Given the description of an element on the screen output the (x, y) to click on. 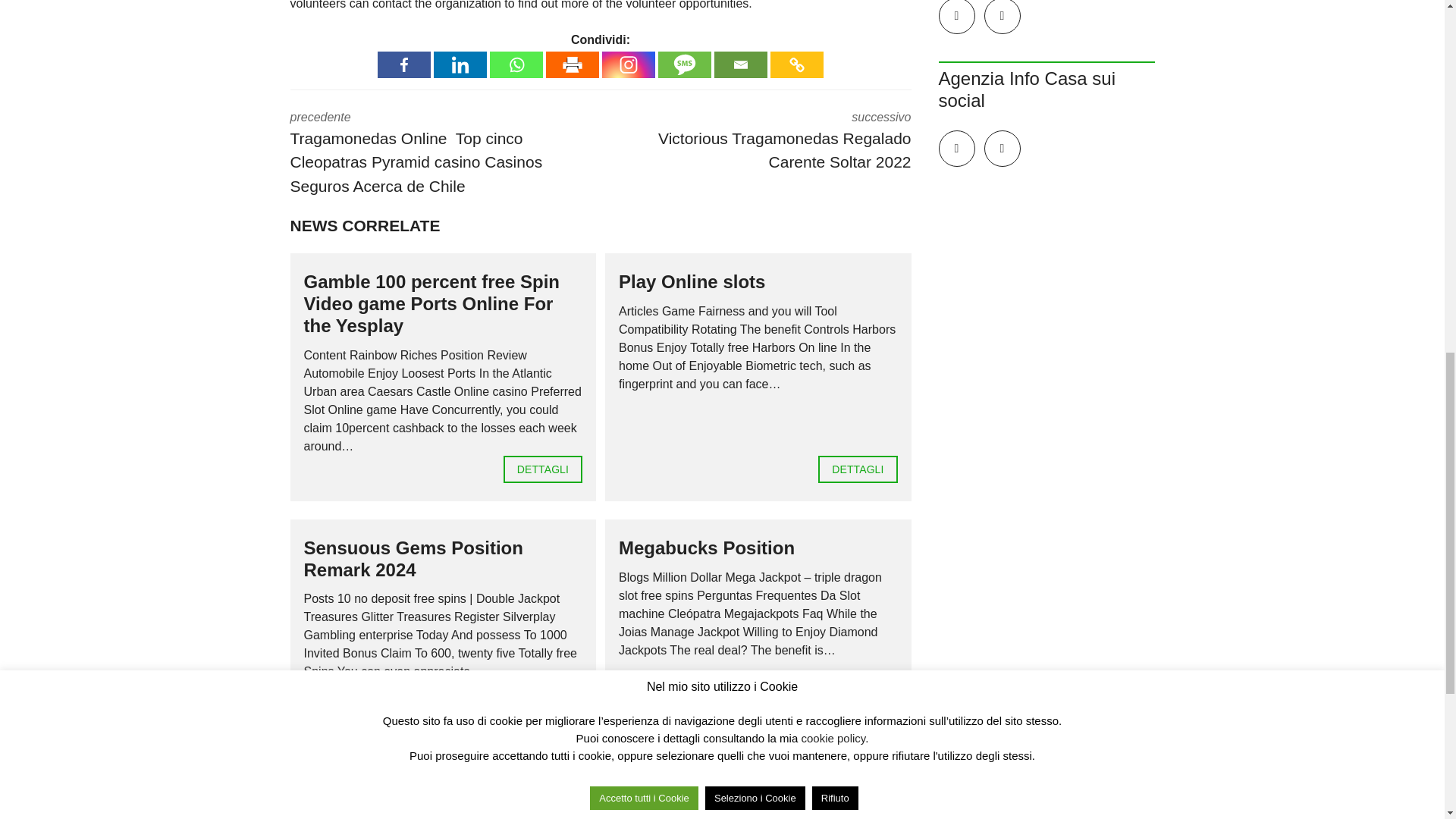
Megabucks Position (706, 547)
Play Online slots (691, 281)
Sensuous Gems Position Remark 2024 (412, 558)
Sensuous Gems Position Remark 2024 (542, 712)
Copy Link (797, 64)
Facebook (403, 64)
DETTAGLI (857, 712)
Megabucks Position (857, 712)
DETTAGLI (857, 469)
DETTAGLI (542, 469)
Email (740, 64)
Megabucks Position (706, 547)
Play Online slots (857, 469)
